Given the description of an element on the screen output the (x, y) to click on. 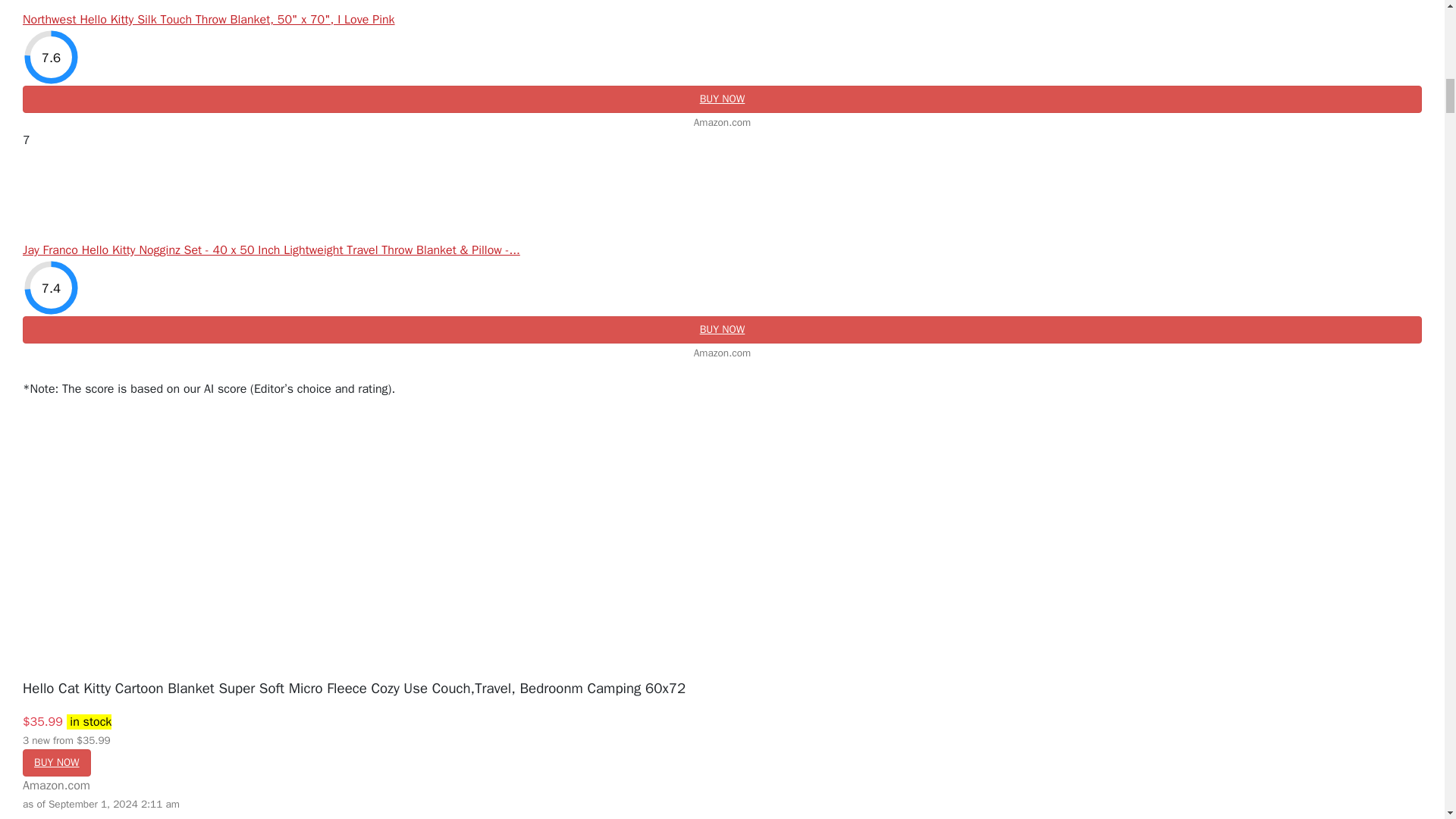
7.4 (51, 287)
Last updated on September 1, 2024 2:11 am (89, 721)
7.6 (51, 56)
